Given the description of an element on the screen output the (x, y) to click on. 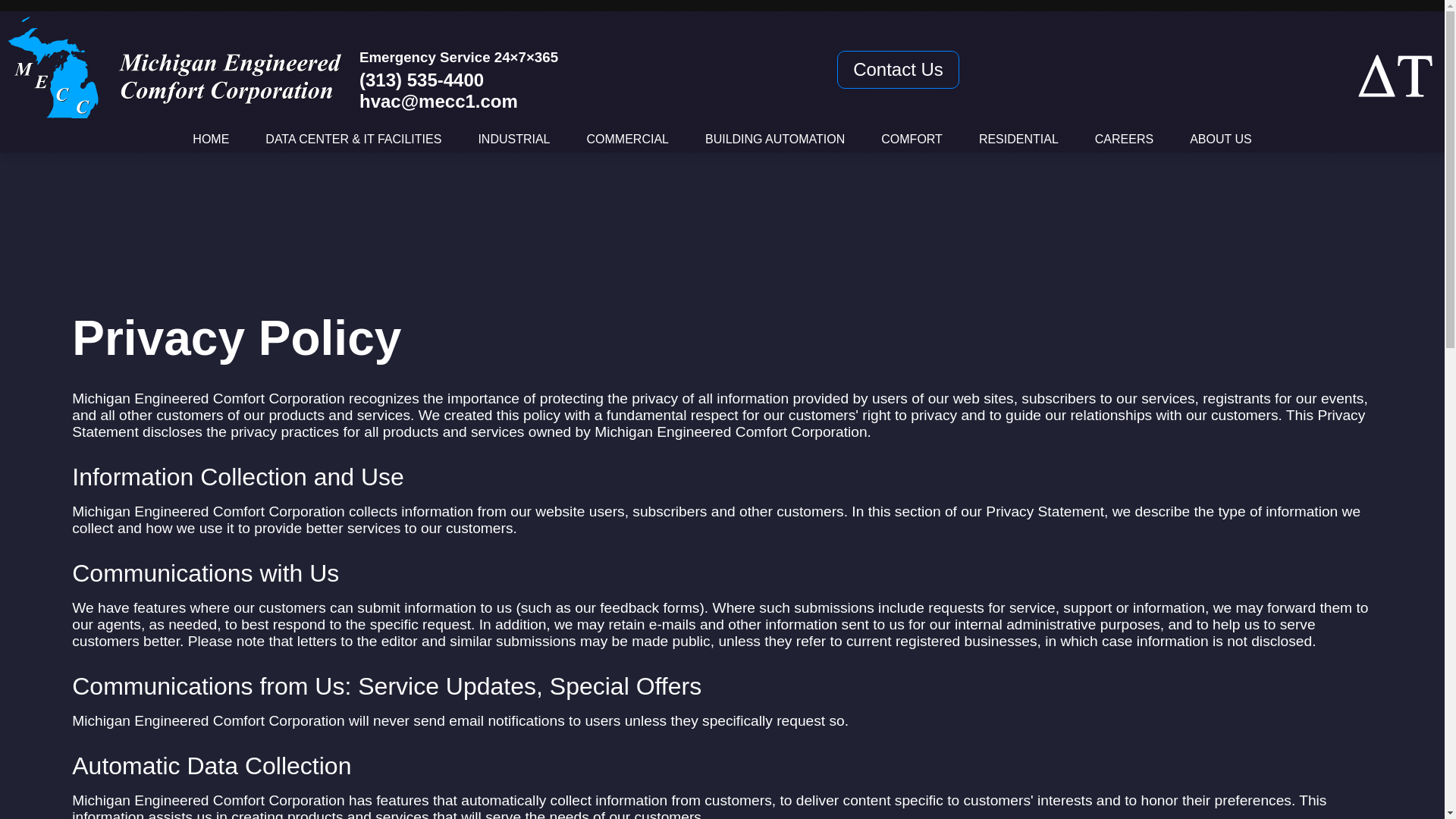
CAREERS (1123, 138)
INDUSTRIAL (513, 138)
RESIDENTIAL (1018, 138)
BUILDING AUTOMATION (774, 138)
COMMERCIAL (627, 138)
HOME (210, 138)
COMFORT (911, 138)
Contact Us (898, 69)
